Given the description of an element on the screen output the (x, y) to click on. 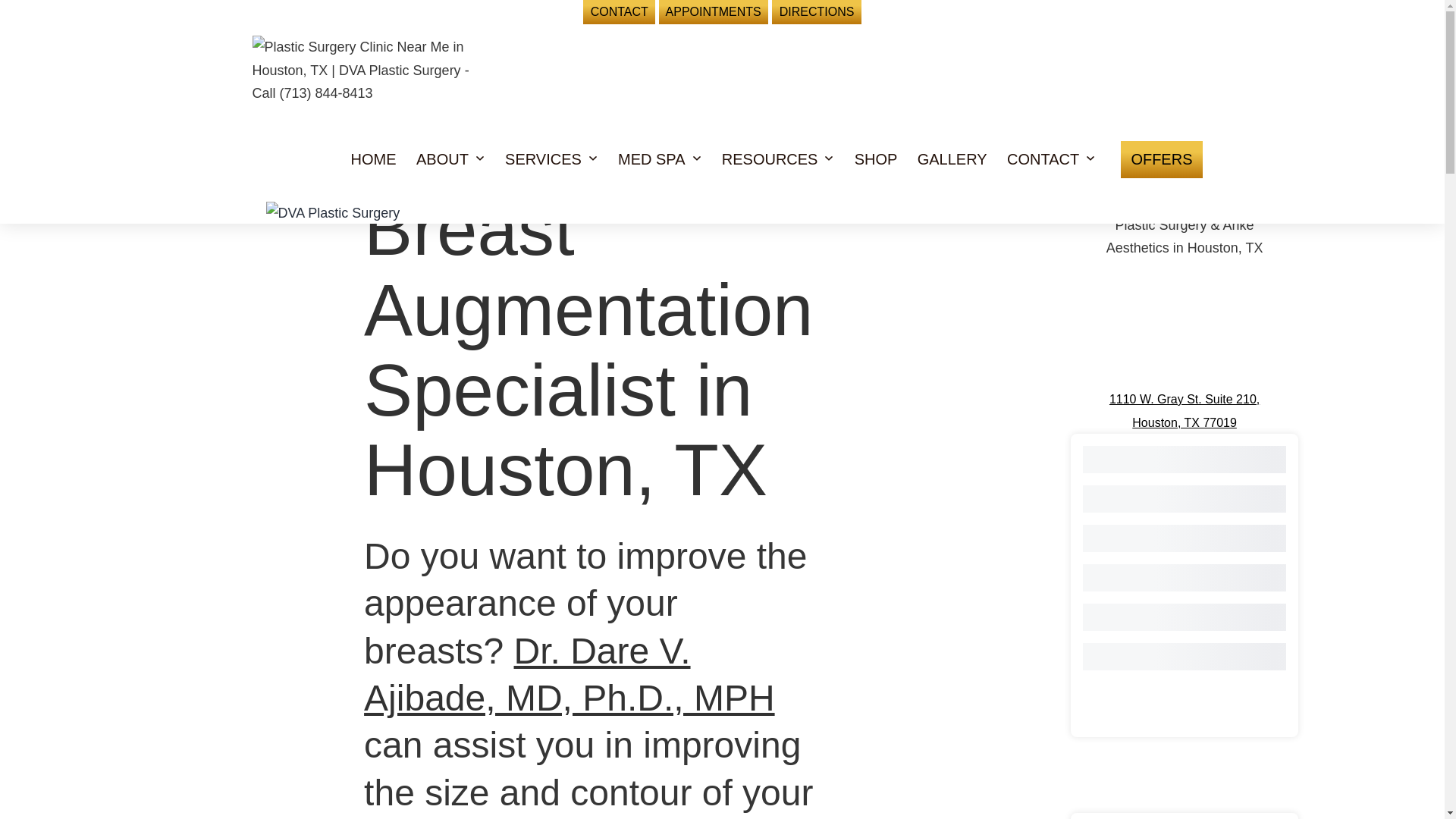
SERVICES (543, 159)
ABOUT (442, 159)
HOME (373, 159)
DVA Plastic Surgery (331, 213)
DIRECTIONS (816, 12)
APPOINTMENTS (713, 12)
CONTACT (619, 12)
